Given the description of an element on the screen output the (x, y) to click on. 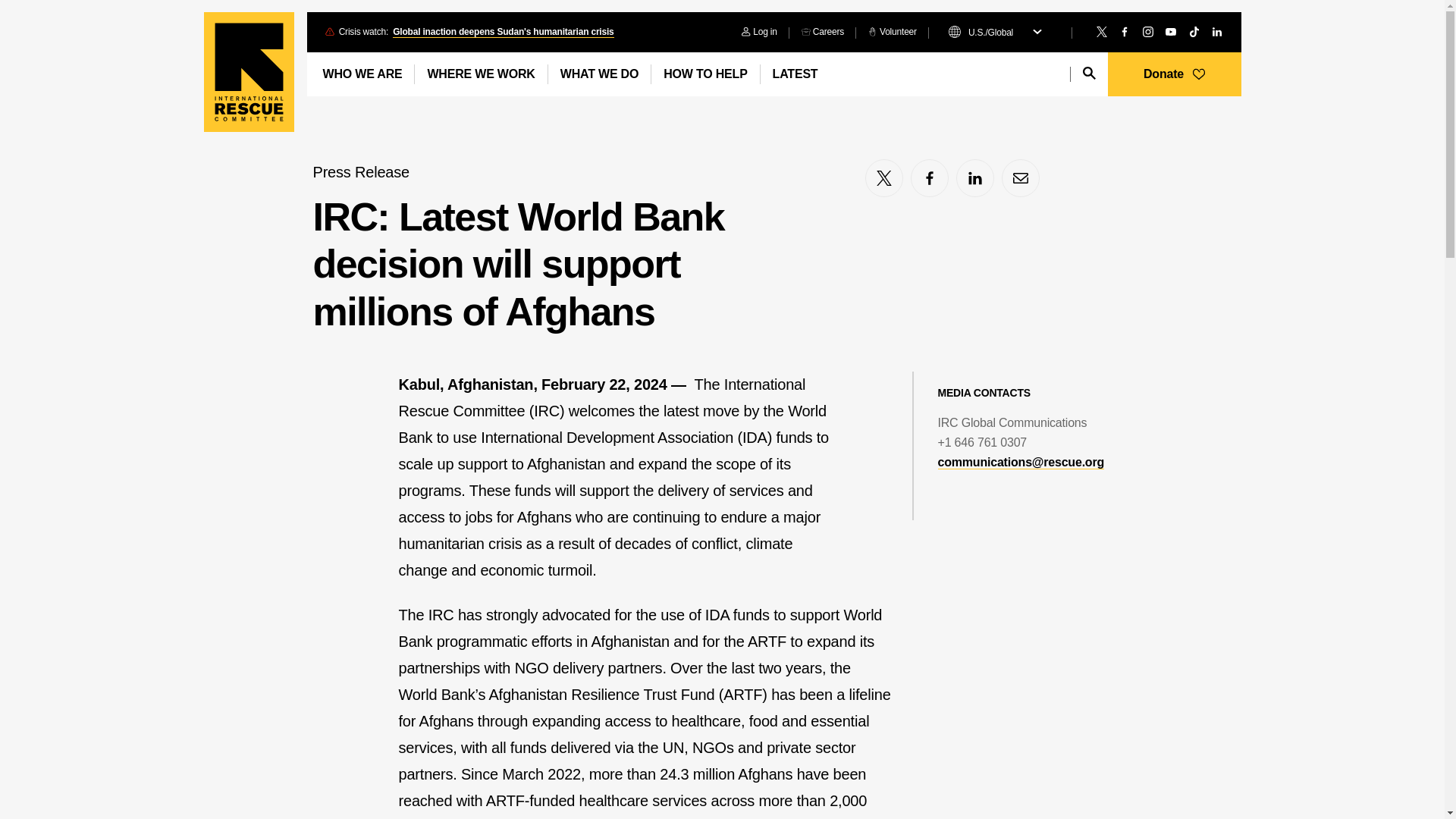
search (1089, 72)
facebook (1124, 31)
facebook (930, 177)
twitter (1101, 31)
tiktok (1194, 31)
linked-in (975, 177)
twitter (883, 177)
Careers (822, 32)
linked-in (1217, 31)
